Given the description of an element on the screen output the (x, y) to click on. 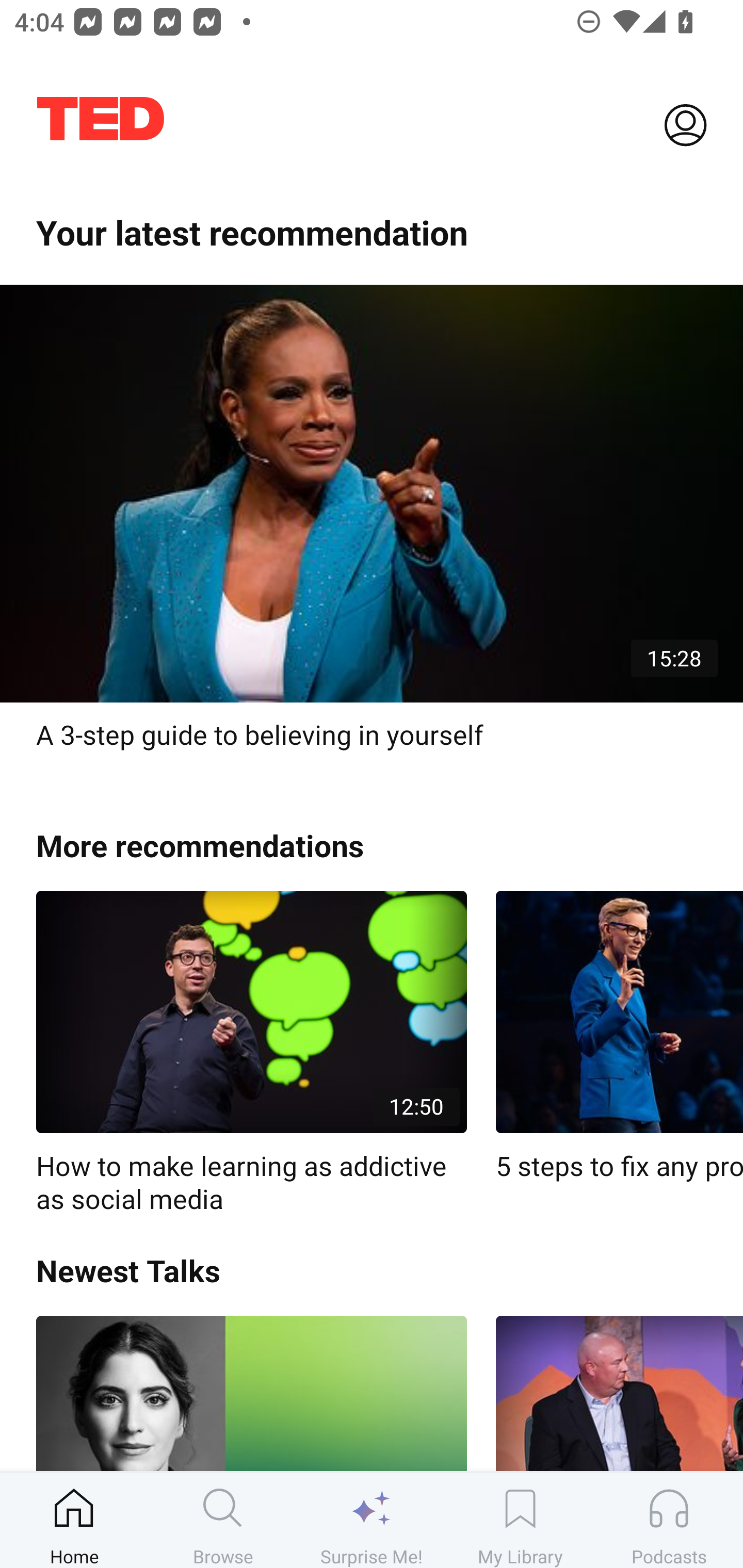
5 steps to fix any problem at work (619, 1036)
Home (74, 1520)
Browse (222, 1520)
Surprise Me! (371, 1520)
My Library (519, 1520)
Podcasts (668, 1520)
